Given the description of an element on the screen output the (x, y) to click on. 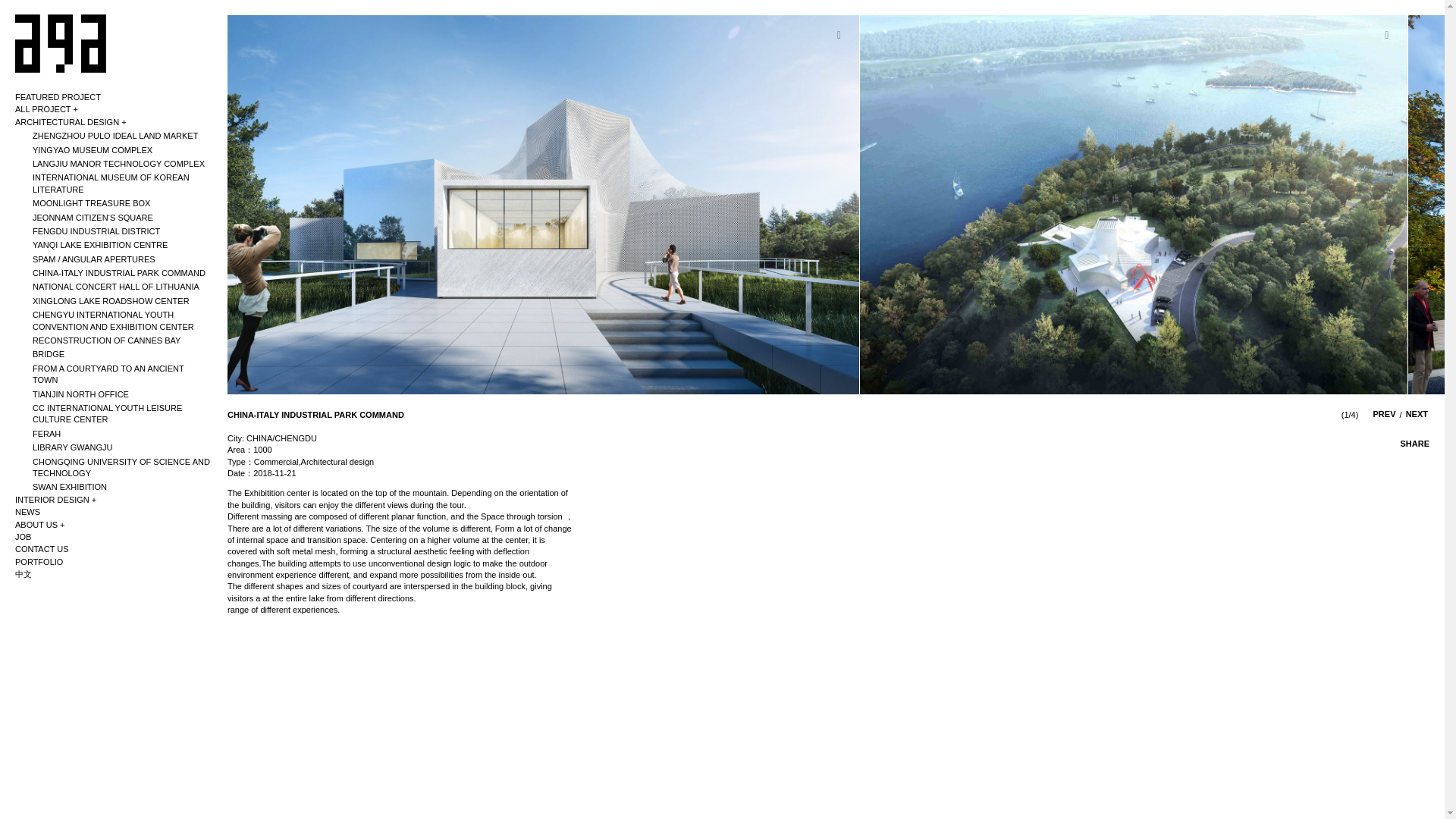
FEATURED PROJECT (58, 96)
